Given the description of an element on the screen output the (x, y) to click on. 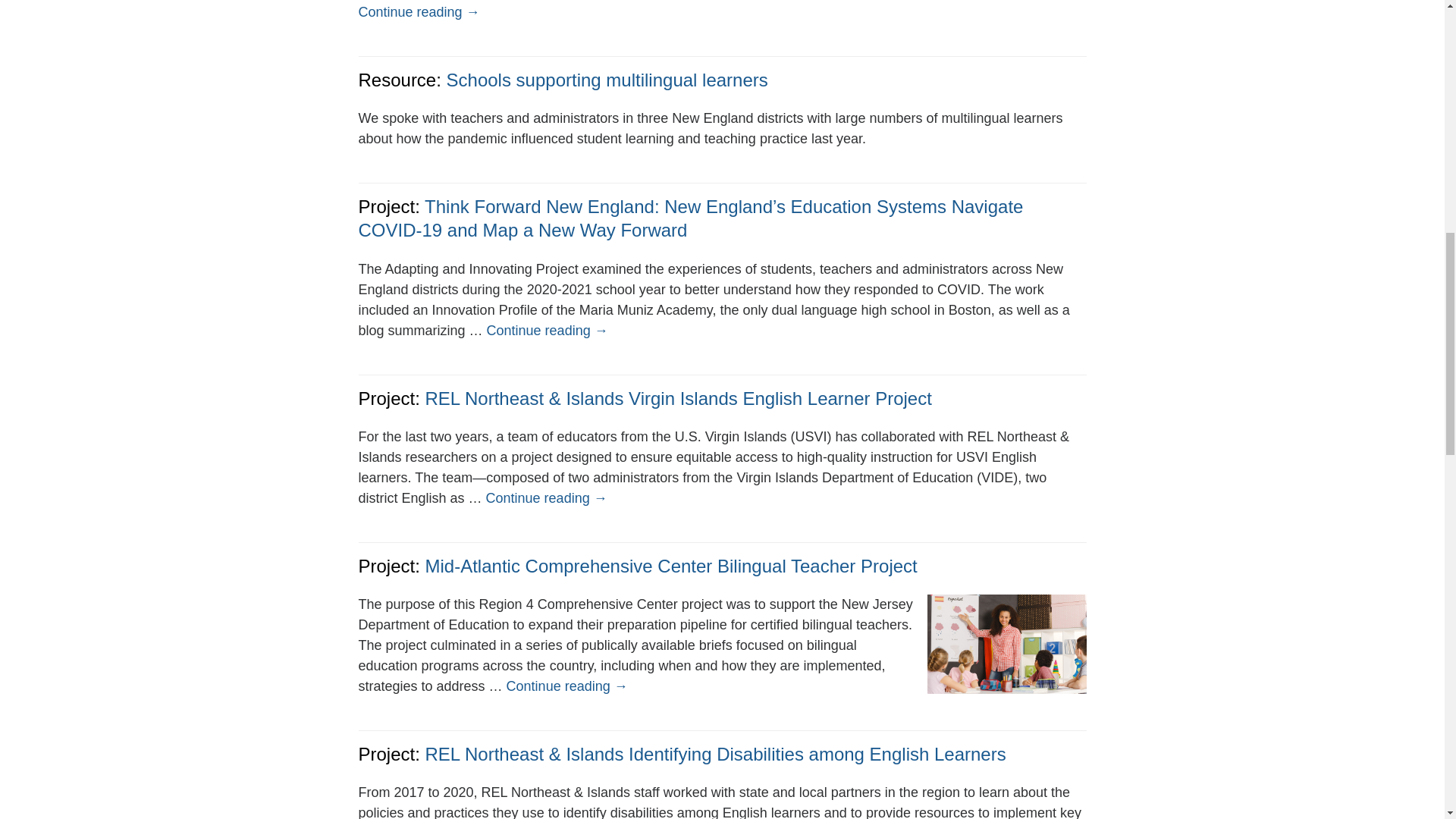
Mid-Atlantic Comprehensive Center Bilingual Teacher Project (671, 566)
Schools supporting multilingual learners (607, 79)
